Given the description of an element on the screen output the (x, y) to click on. 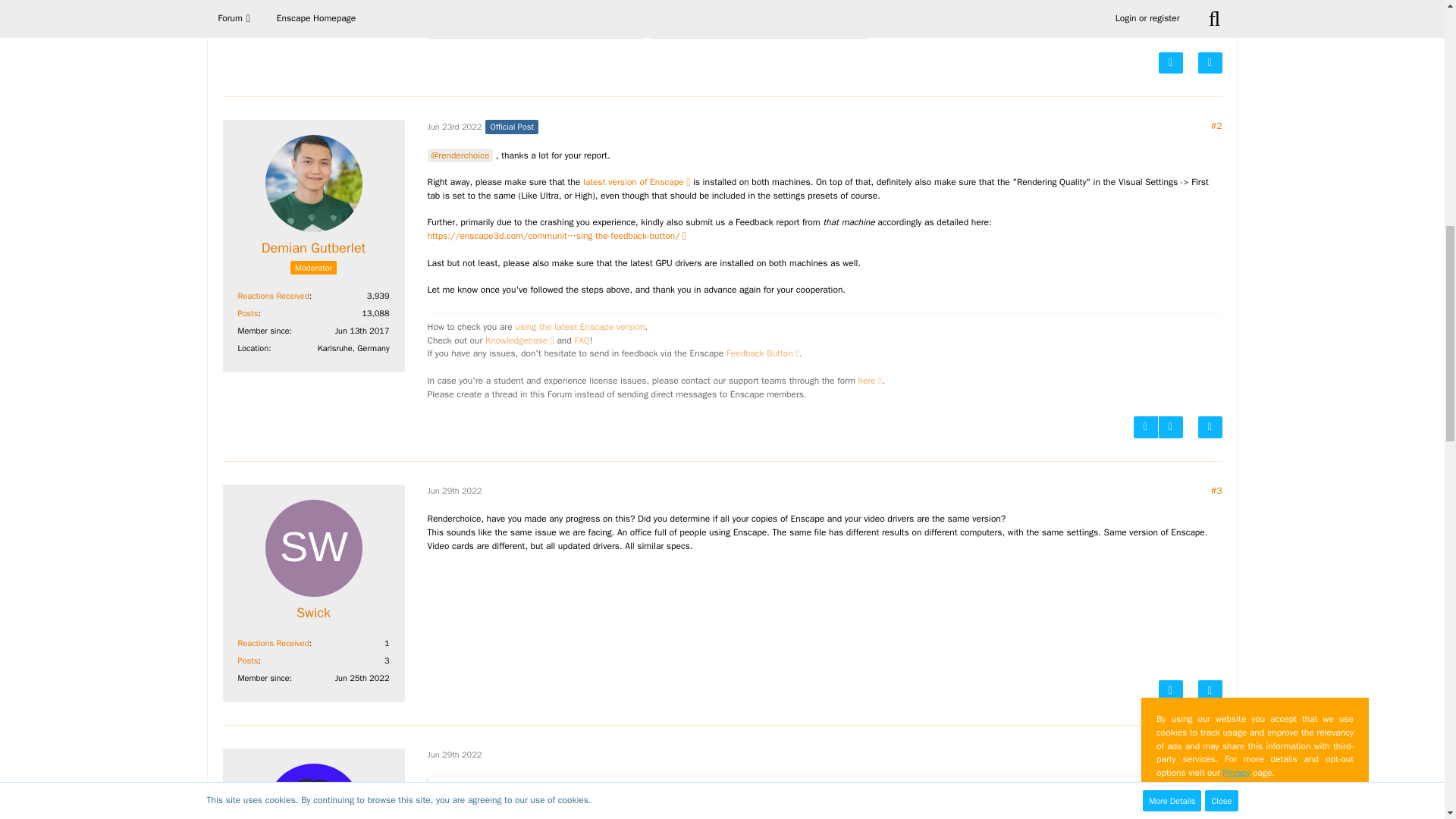
Demian Gutberlet (314, 248)
Jun 23rd 2022 (454, 126)
Posts (248, 312)
Reactions Received (273, 295)
renderchoice (460, 155)
